Given the description of an element on the screen output the (x, y) to click on. 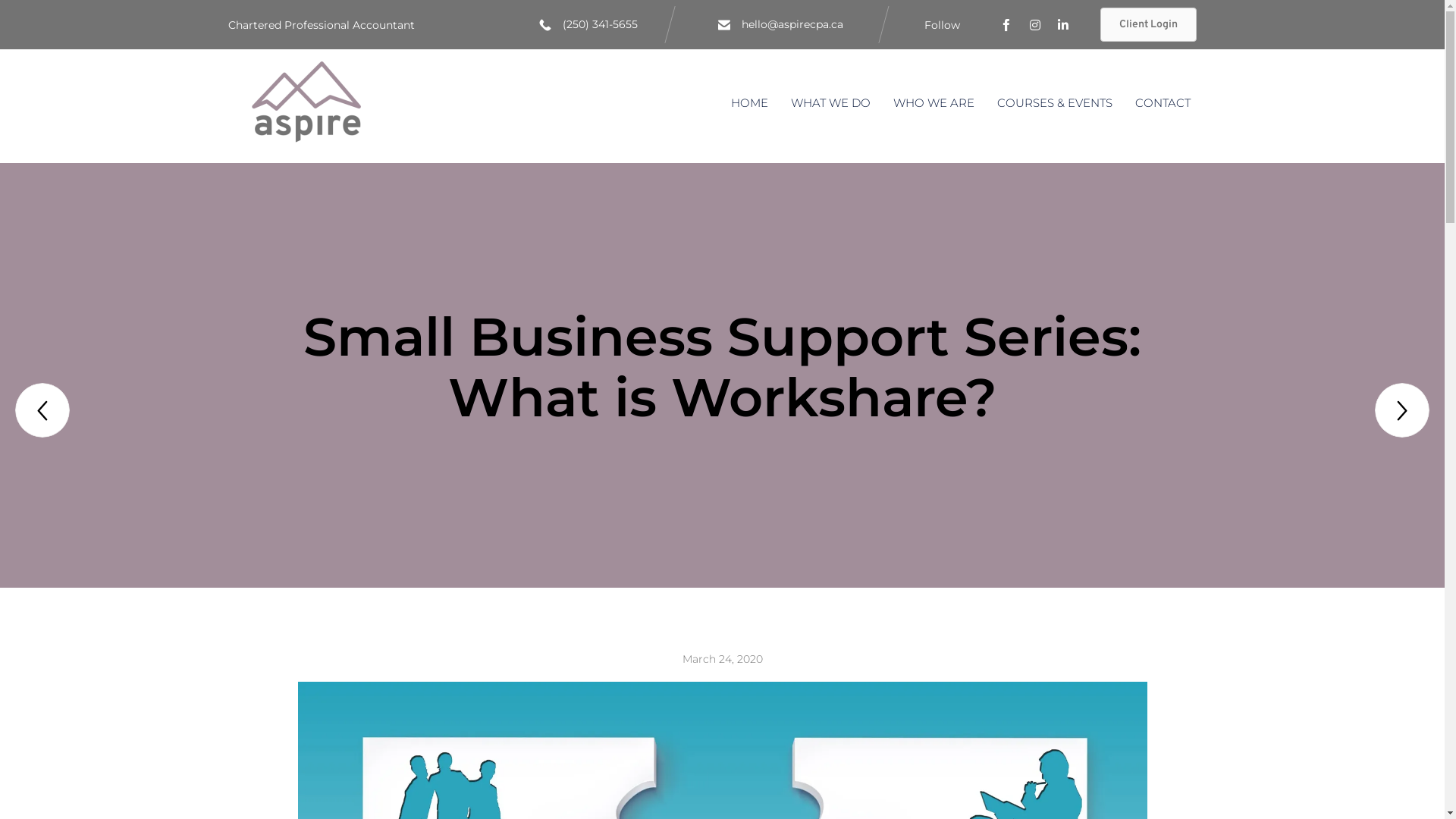
Aspire Professional Corporation Element type: hover (305, 104)
(250) 341-5655 Element type: text (599, 24)
COURSES & EVENTS Element type: text (1054, 102)
Skip to content Element type: text (1207, 94)
Client Login Element type: text (1148, 24)
WHAT WE DO Element type: text (830, 102)
WHO WE ARE Element type: text (933, 102)
HOME Element type: text (749, 102)
hello@aspirecpa.ca Element type: text (792, 24)
CONTACT Element type: text (1162, 102)
